Given the description of an element on the screen output the (x, y) to click on. 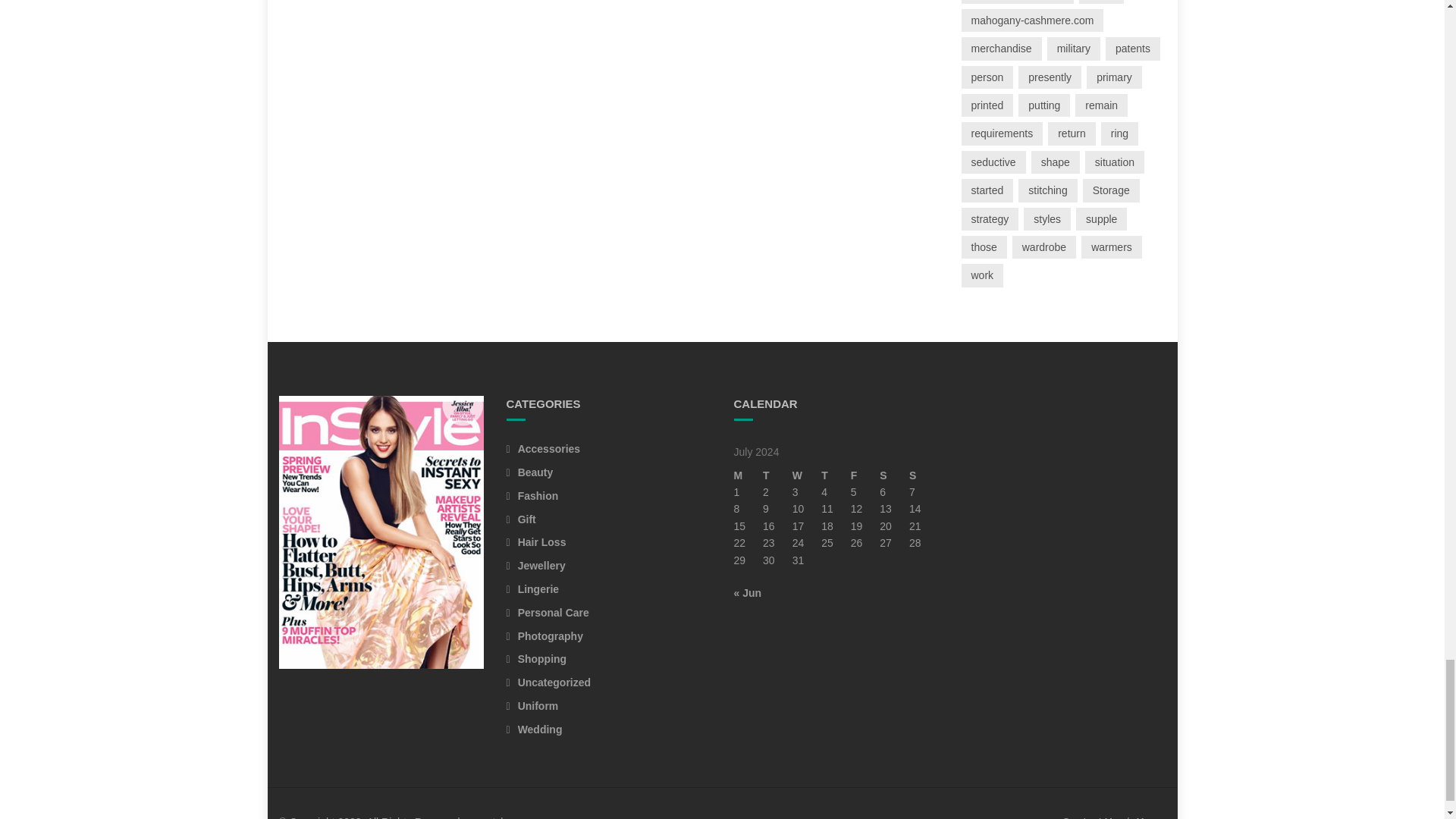
Saturday (893, 475)
Sunday (923, 475)
Monday (747, 475)
Thursday (835, 475)
Tuesday (777, 475)
Wednesday (807, 475)
Friday (865, 475)
